Given the description of an element on the screen output the (x, y) to click on. 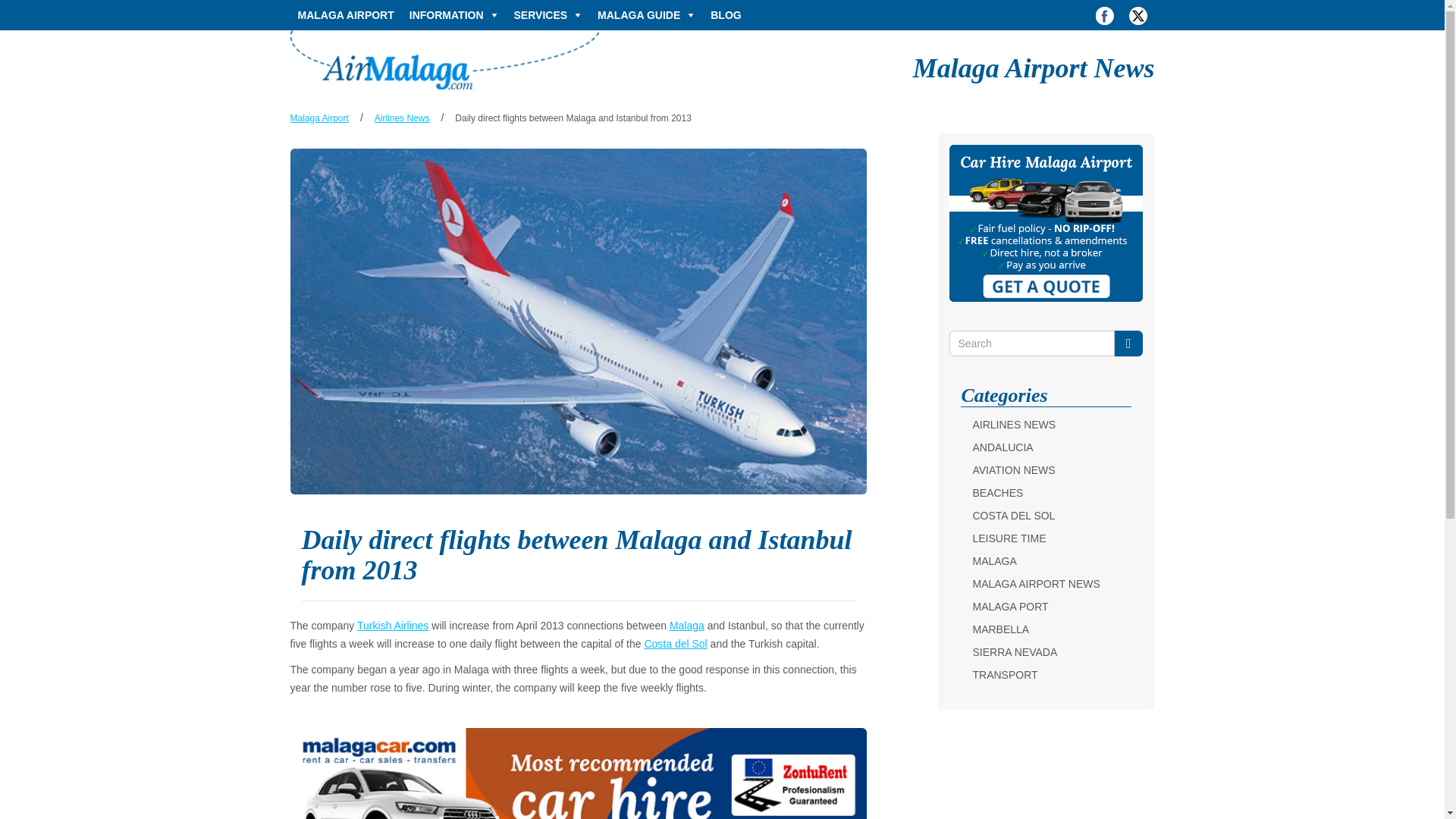
Turkish Airlines (392, 625)
Daily direct flights between Malaga and Istanbul from 2013 (572, 118)
Guide on Malaga Airport, Spain (443, 59)
INFORMATION (453, 15)
Costa del Sol (674, 644)
BLOG (725, 15)
MALAGA GUIDE (646, 15)
SERVICES (548, 15)
Malaga Airport (318, 118)
Airlines News (401, 118)
